Given the description of an element on the screen output the (x, y) to click on. 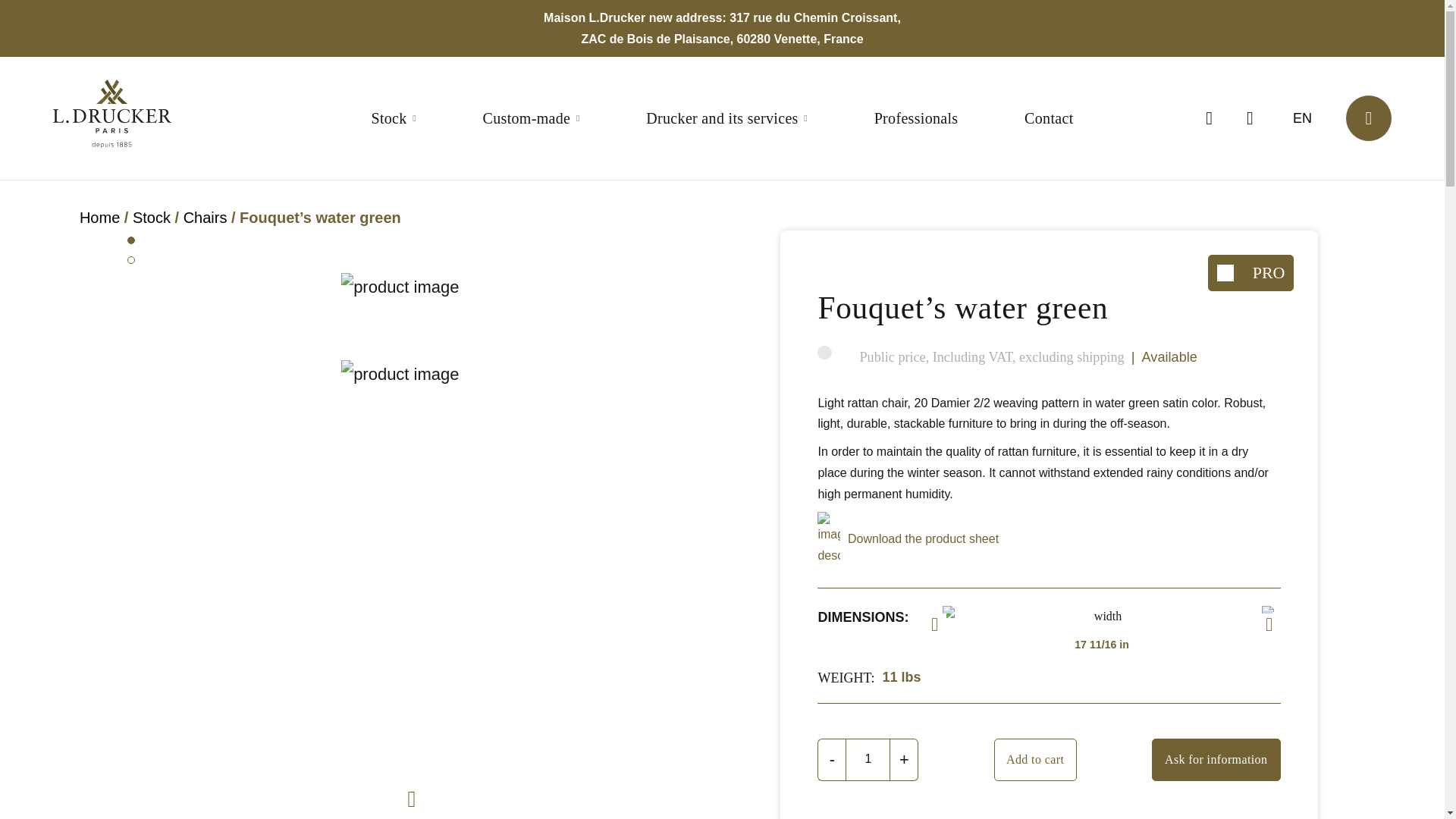
Qty (867, 759)
Custom-made (531, 118)
Ask for information (1216, 759)
1 (867, 759)
